Given the description of an element on the screen output the (x, y) to click on. 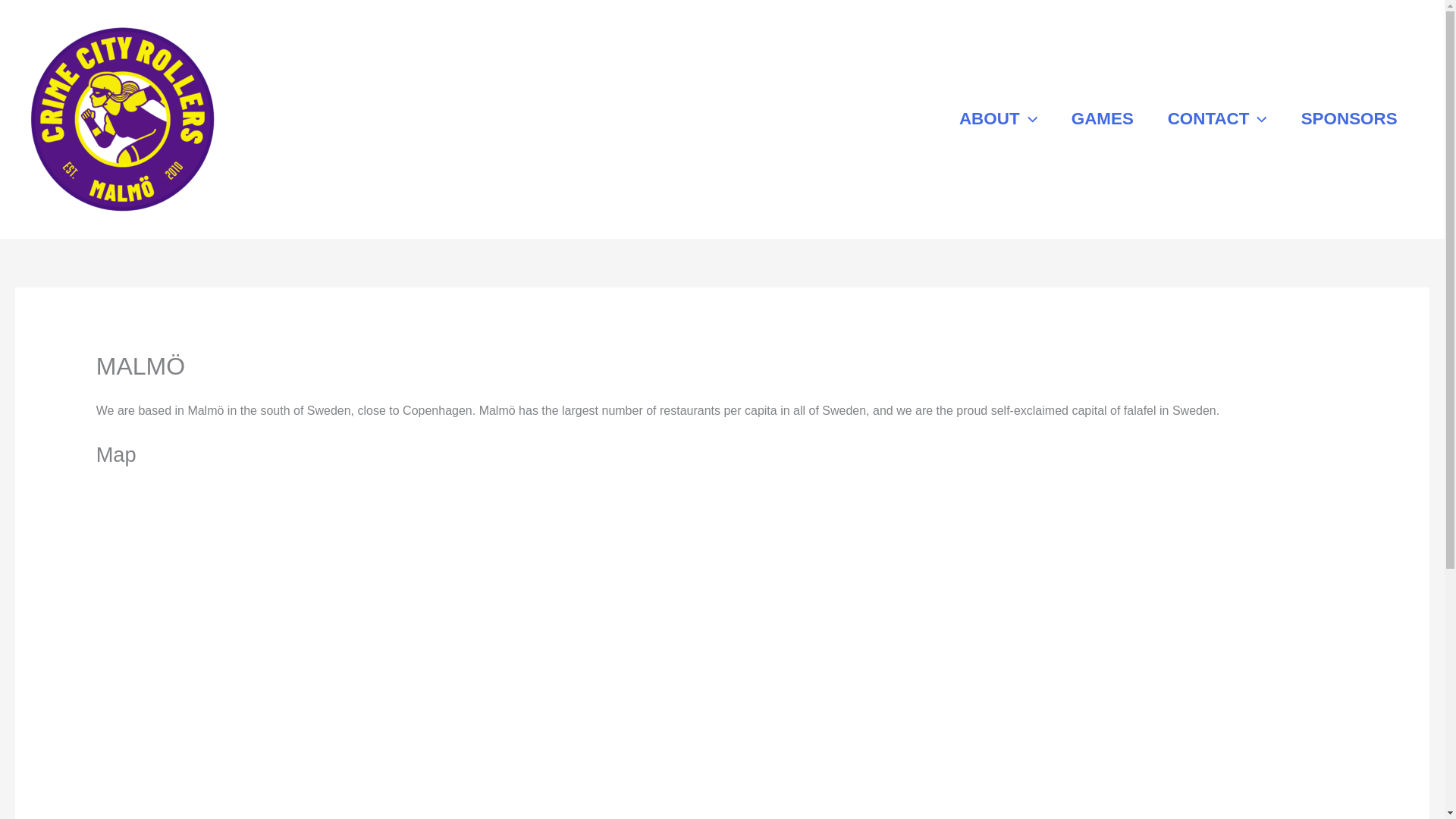
ABOUT (998, 119)
SPONSORS (1348, 119)
CONTACT (1217, 119)
GAMES (1102, 119)
